Given the description of an element on the screen output the (x, y) to click on. 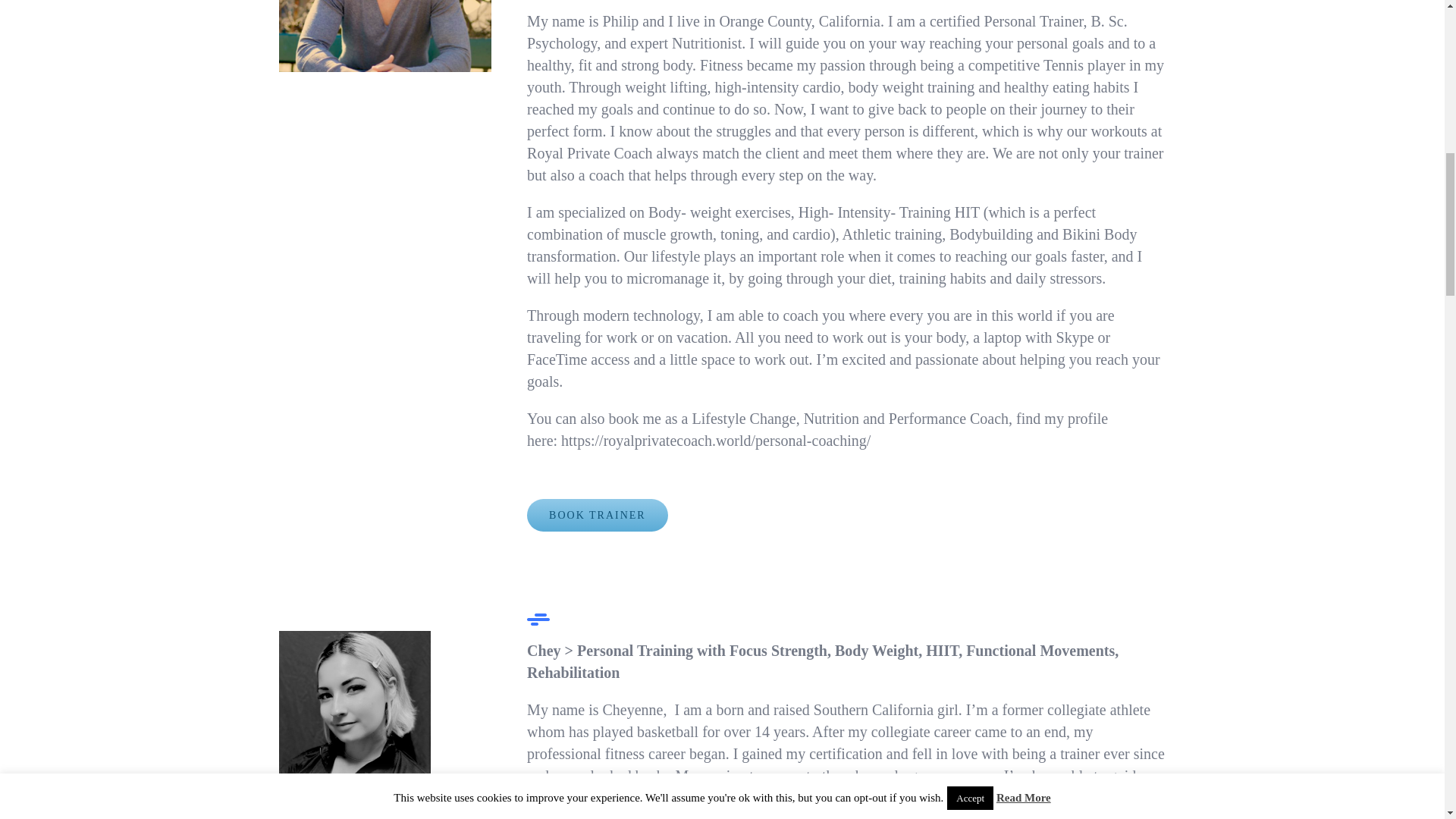
Philip (385, 36)
Cheyenne (354, 724)
